Given the description of an element on the screen output the (x, y) to click on. 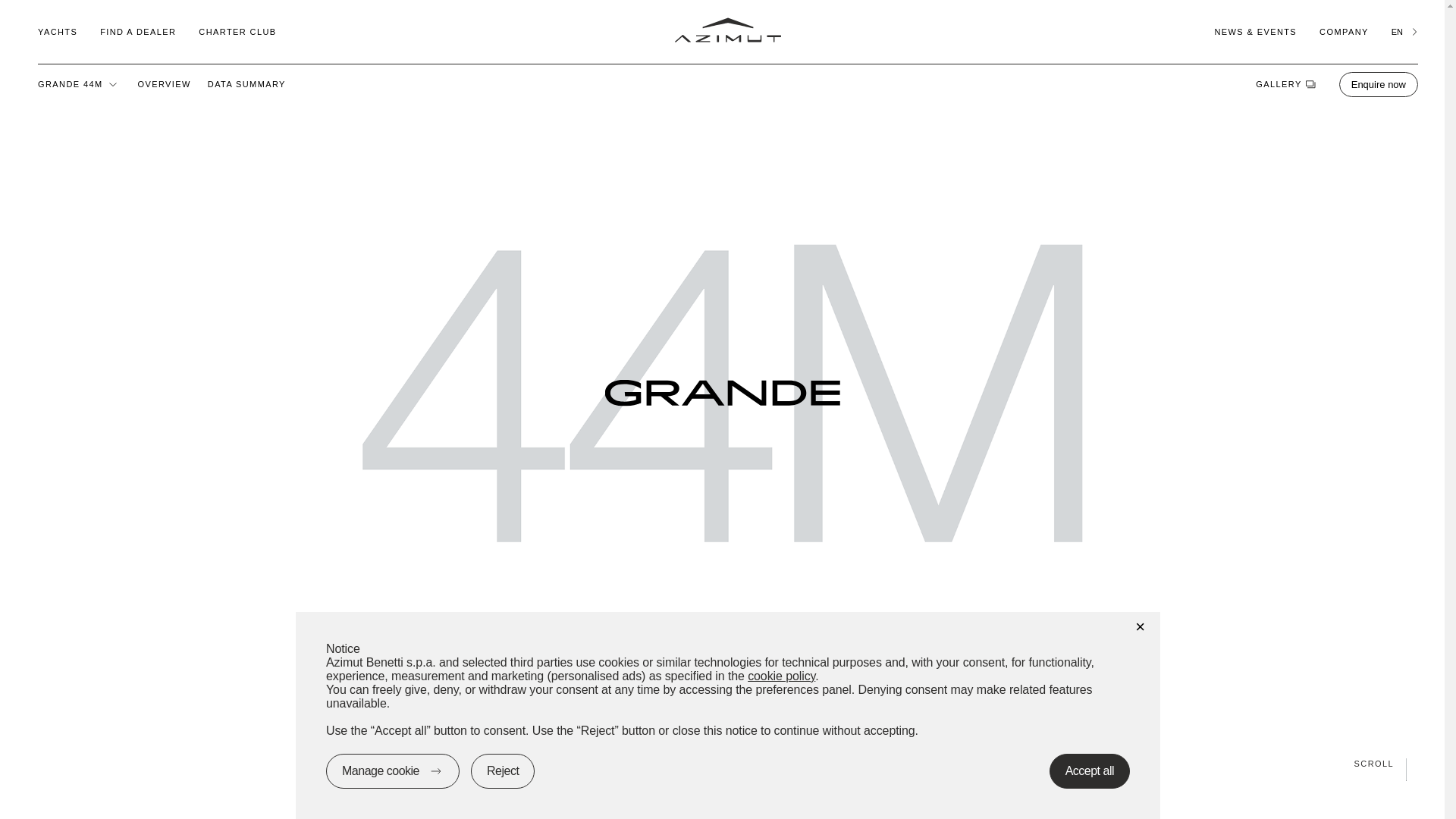
OVERVIEW (164, 83)
FIND A DEALER (138, 31)
Enquire now (1378, 83)
SCROLL (722, 763)
COMPANY (1343, 31)
DATA SUMMARY (246, 83)
EN (1404, 31)
YACHTS (57, 31)
CHARTER CLUB (237, 31)
